Given the description of an element on the screen output the (x, y) to click on. 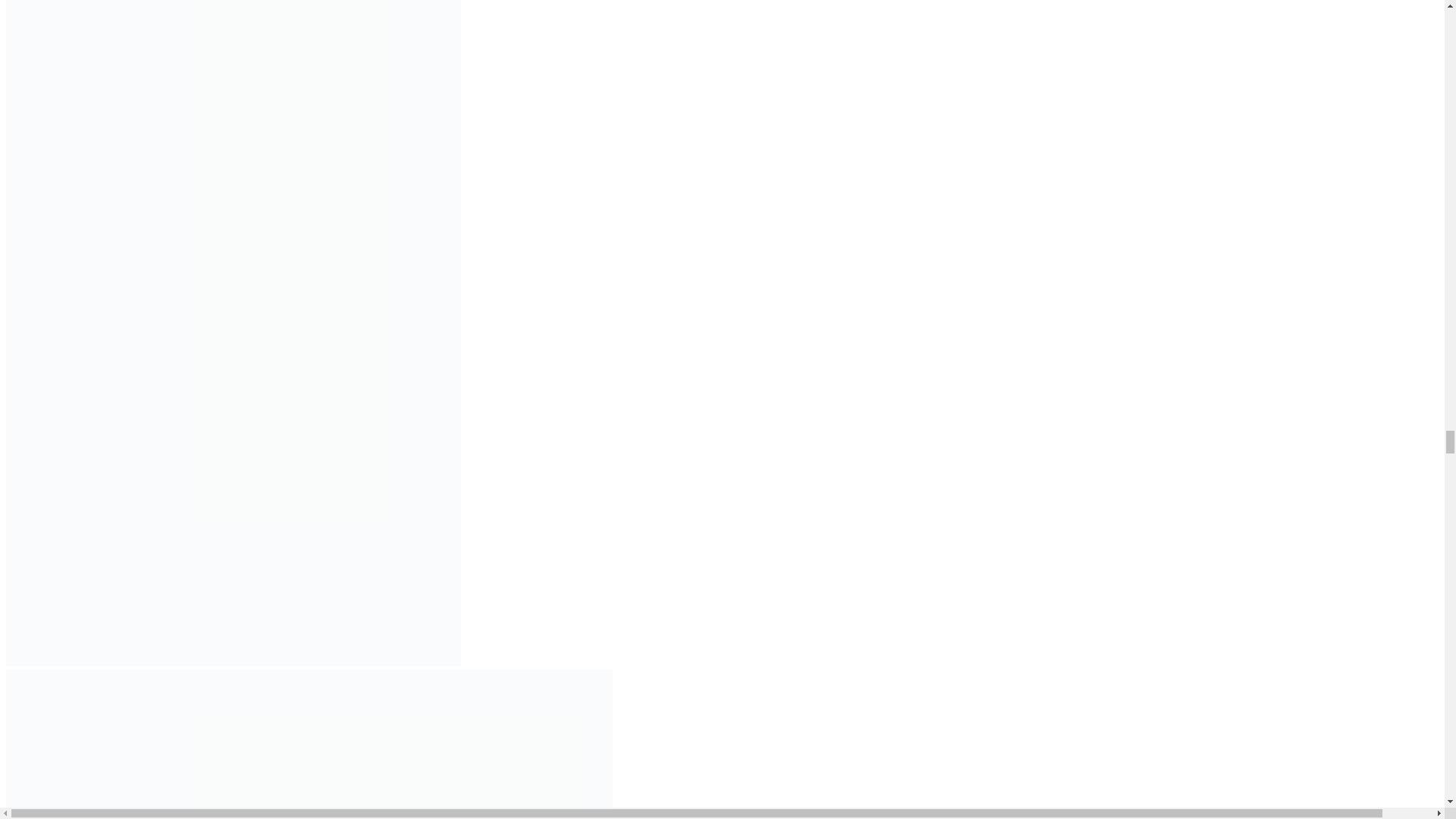
luxury cutlery hire london (308, 744)
